Given the description of an element on the screen output the (x, y) to click on. 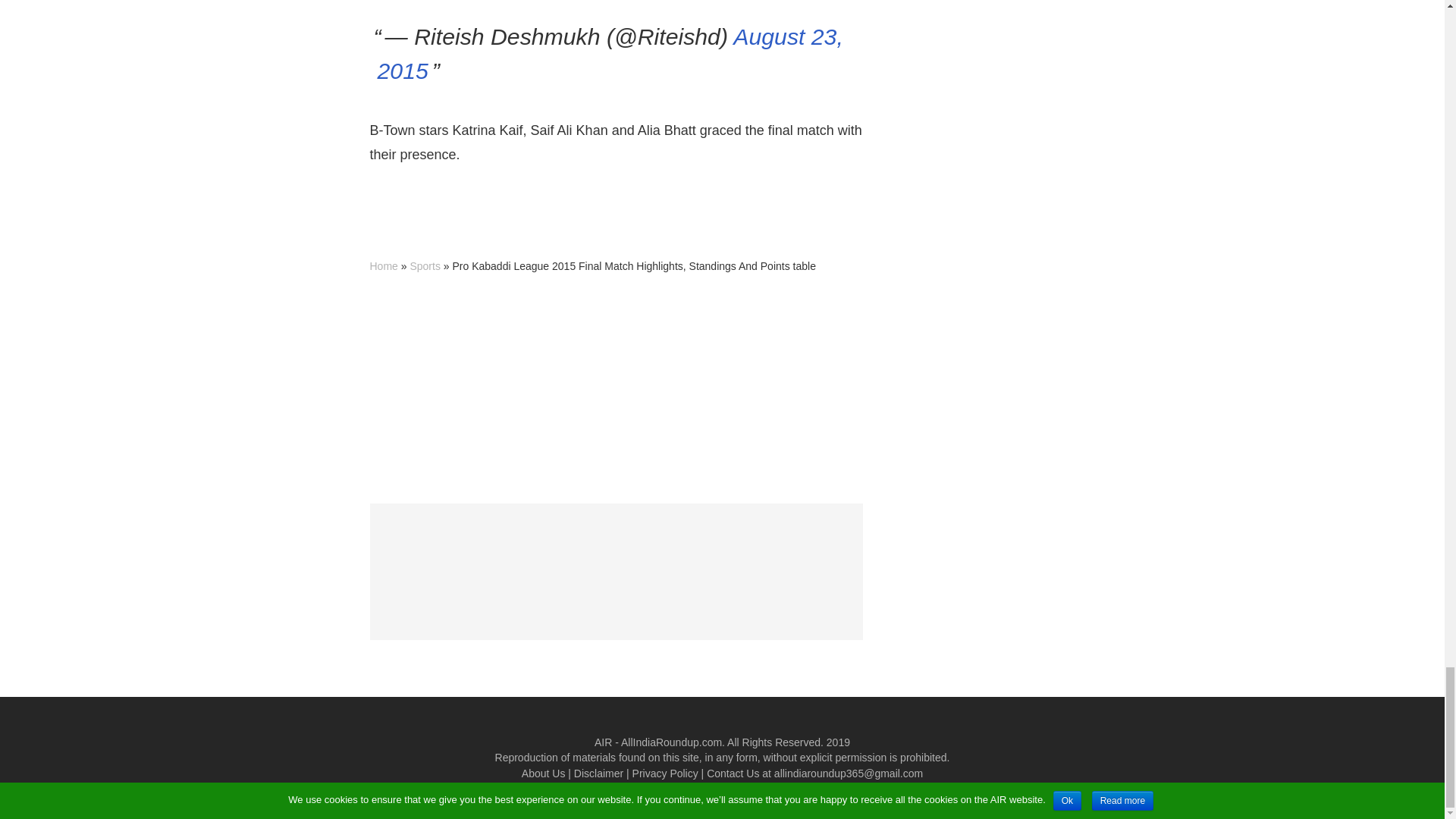
August 23, 2015 (610, 53)
Sports (424, 265)
Home (383, 265)
